Given the description of an element on the screen output the (x, y) to click on. 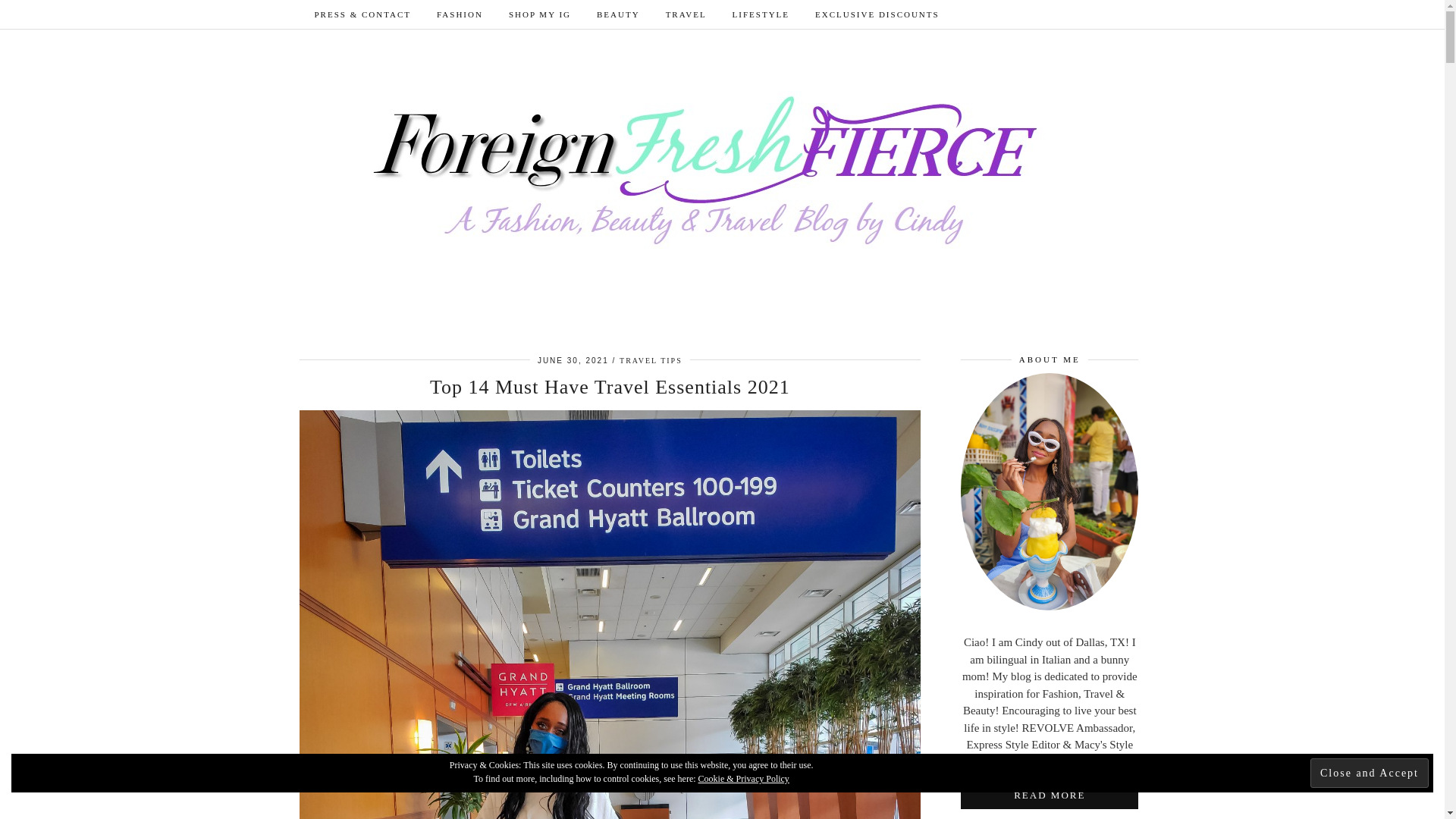
SHOP MY IG (539, 14)
Close and Accept (1369, 772)
FASHION (459, 14)
TRAVEL (685, 14)
BEAUTY (617, 14)
